Given the description of an element on the screen output the (x, y) to click on. 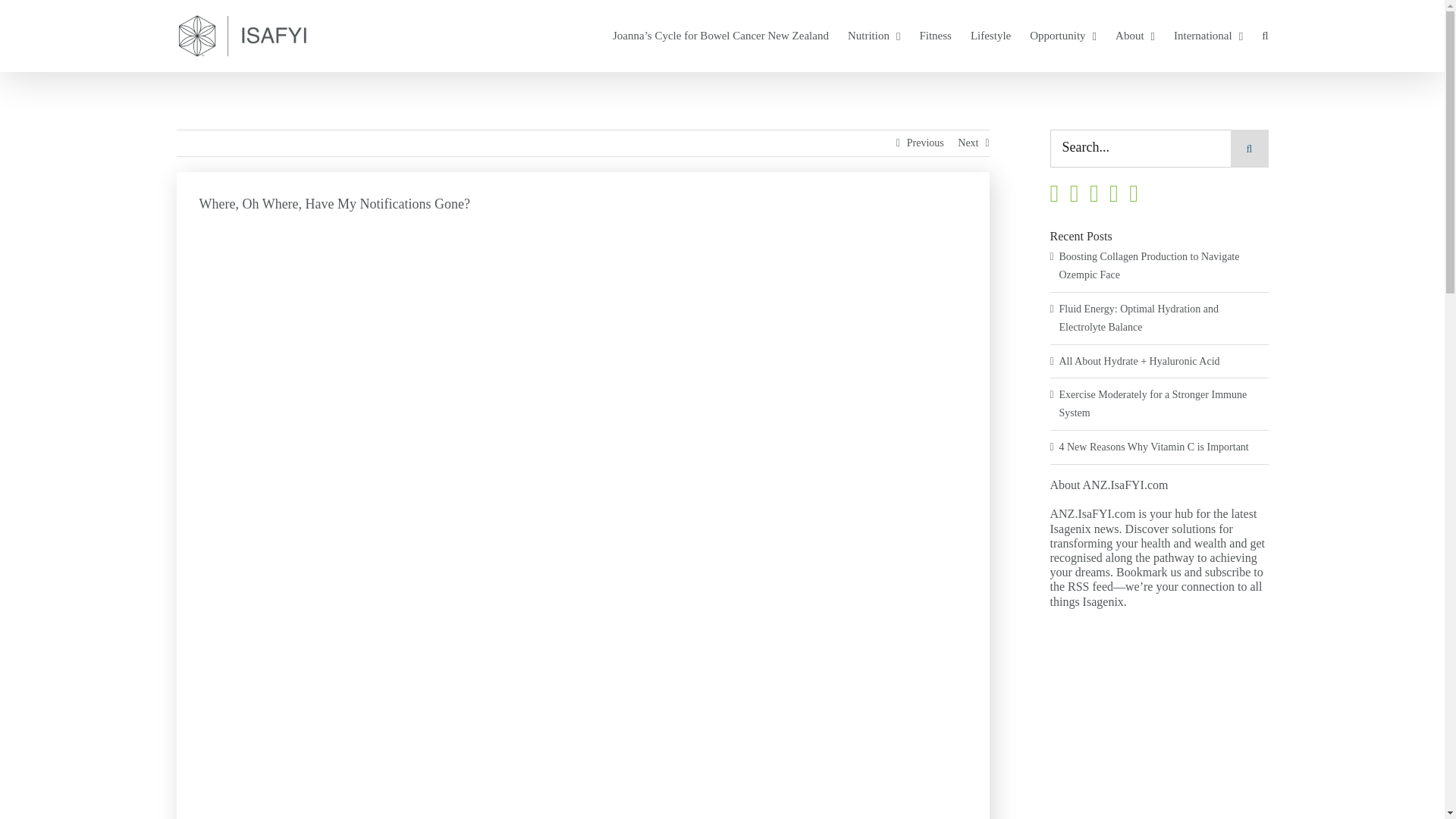
International (1208, 36)
Opportunity (1062, 36)
